Given the description of an element on the screen output the (x, y) to click on. 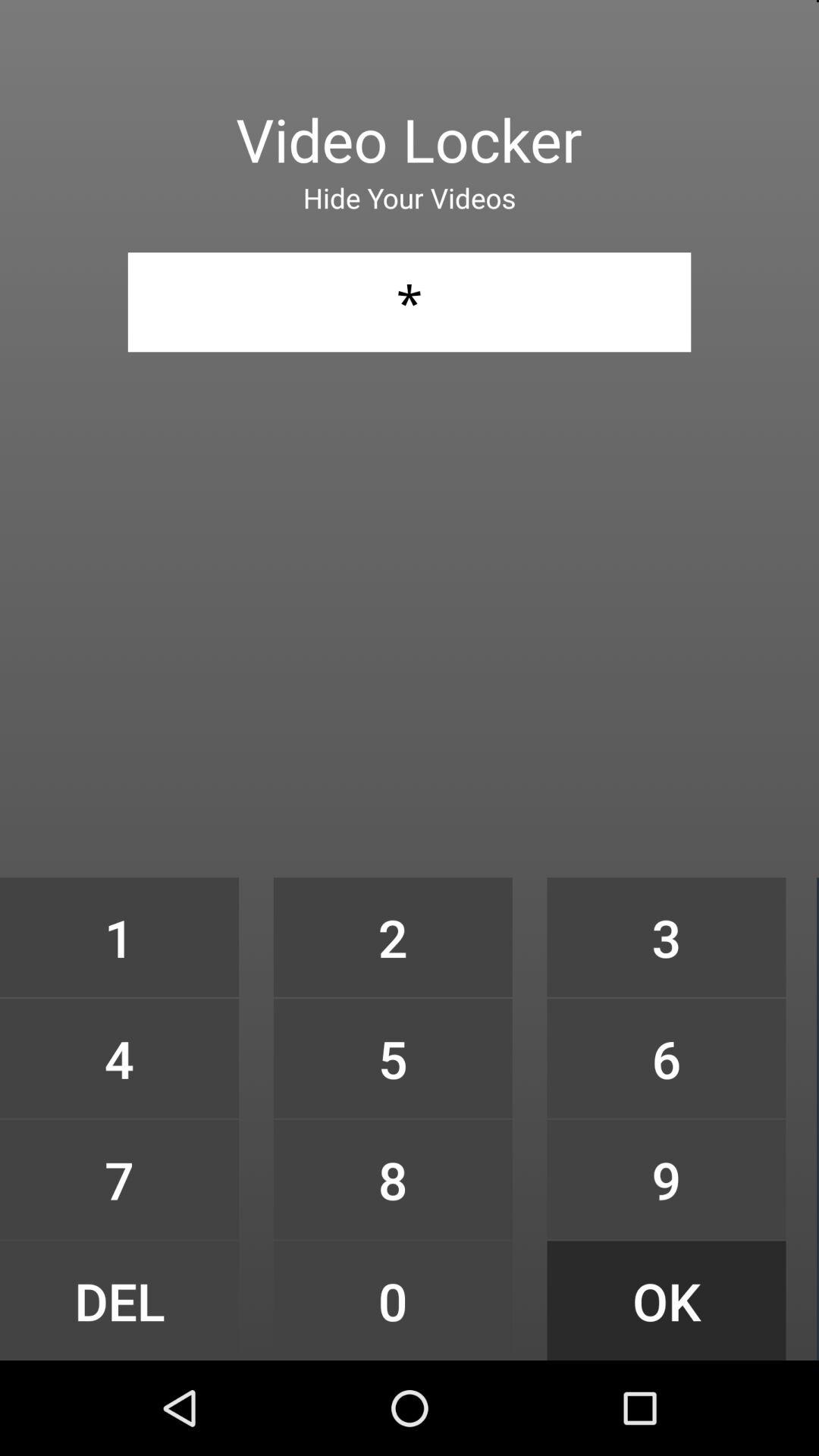
flip until 2 item (392, 937)
